Given the description of an element on the screen output the (x, y) to click on. 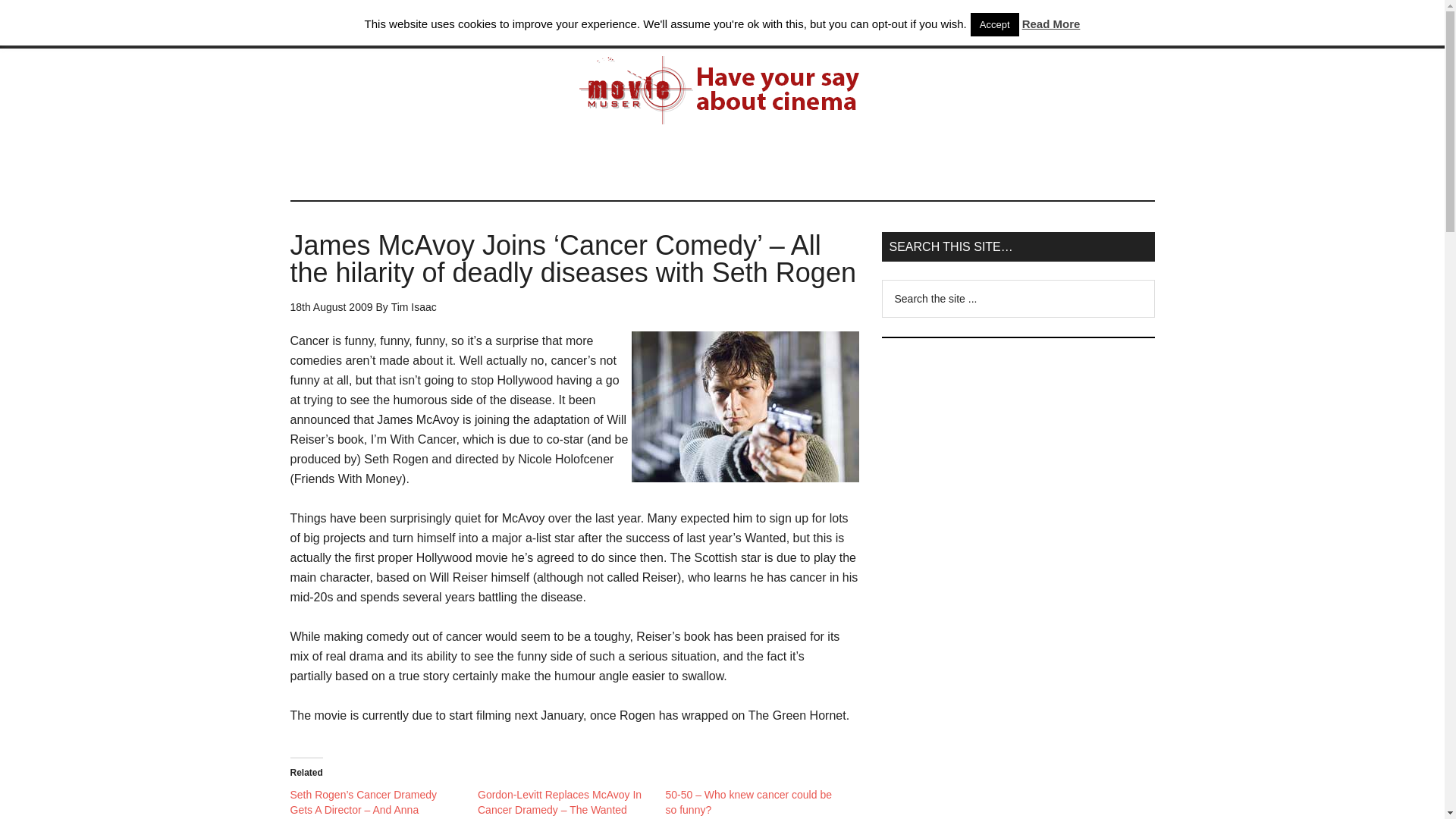
COMPETITIONS (717, 24)
HOME (320, 24)
Movie Muser (721, 90)
REVIEWS (619, 24)
MOVIE TRAILERS (516, 24)
3rd party ad content (1017, 452)
3rd party ad content (721, 165)
FEATURES (818, 24)
